Given the description of an element on the screen output the (x, y) to click on. 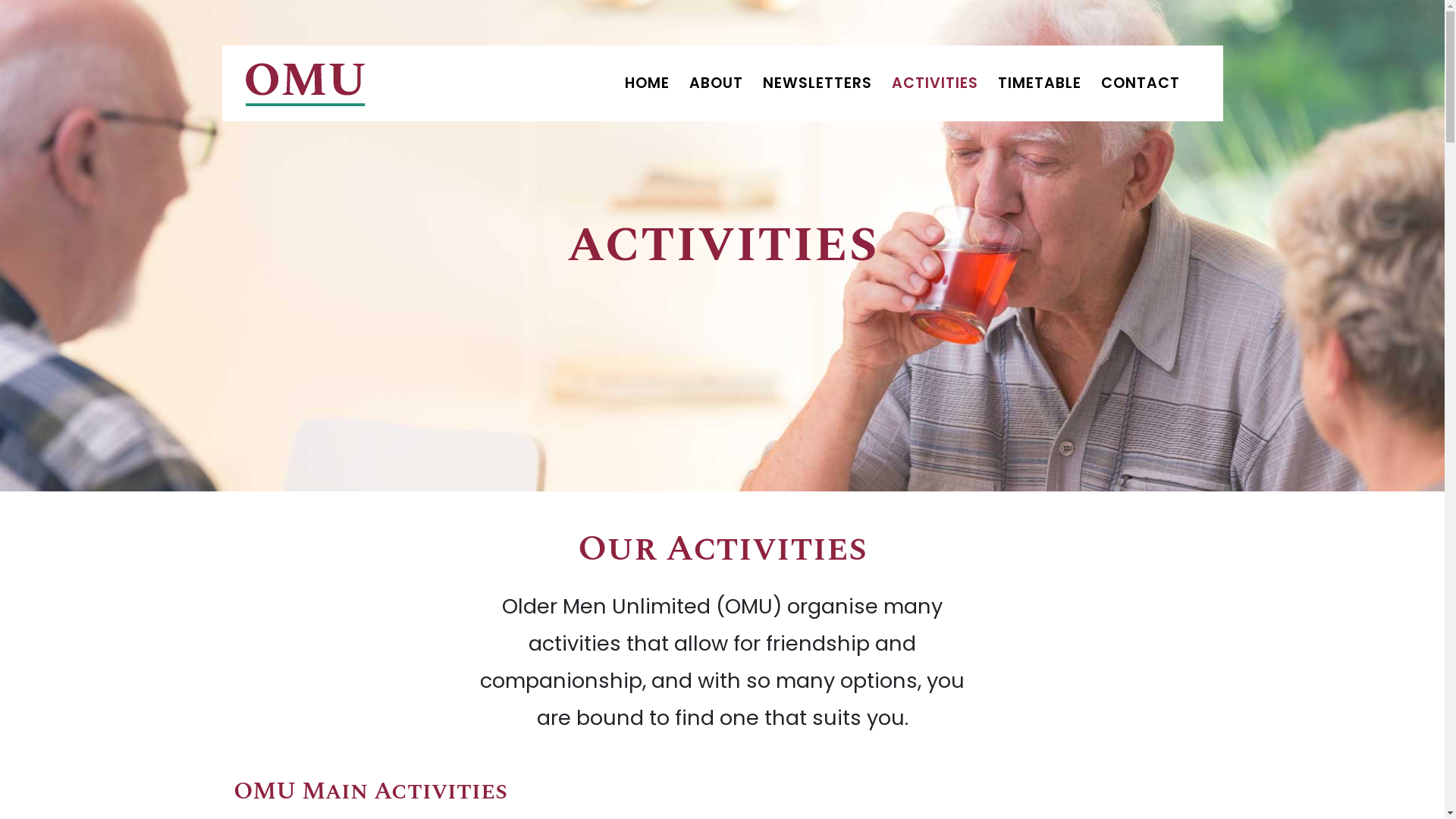
NEWSLETTERS Element type: text (817, 83)
HOME Element type: text (646, 83)
ACTIVITIES Element type: text (934, 83)
TIMETABLE Element type: text (1039, 83)
ABOUT Element type: text (715, 83)
CONTACT Element type: text (1140, 83)
